Given the description of an element on the screen output the (x, y) to click on. 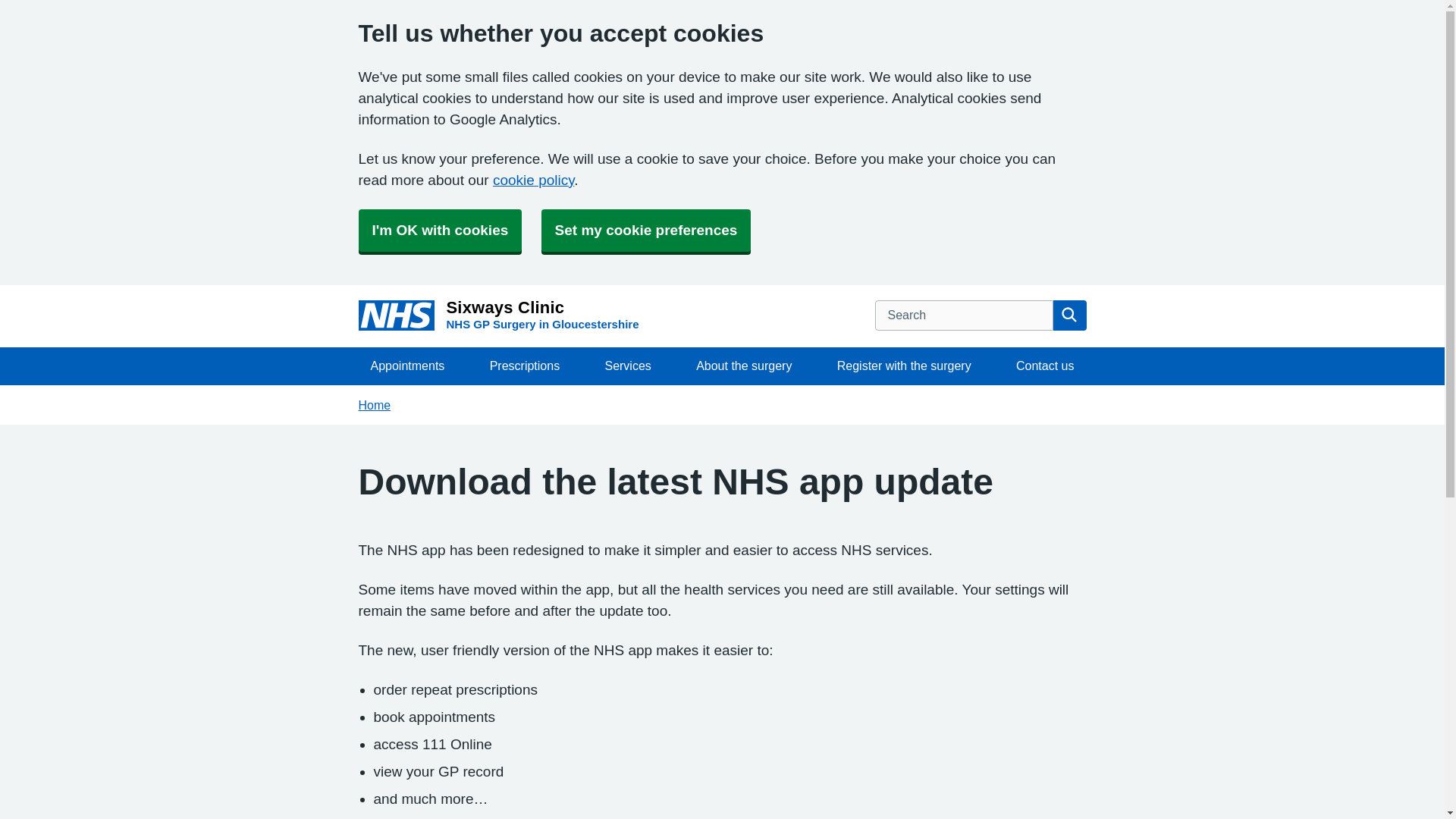
Appointments (407, 365)
cookie policy (533, 179)
About the surgery (743, 365)
Register with the surgery (904, 365)
I'm OK with cookies (439, 230)
Services (627, 365)
Home (374, 404)
Set my cookie preferences (646, 230)
Search (498, 316)
